Given the description of an element on the screen output the (x, y) to click on. 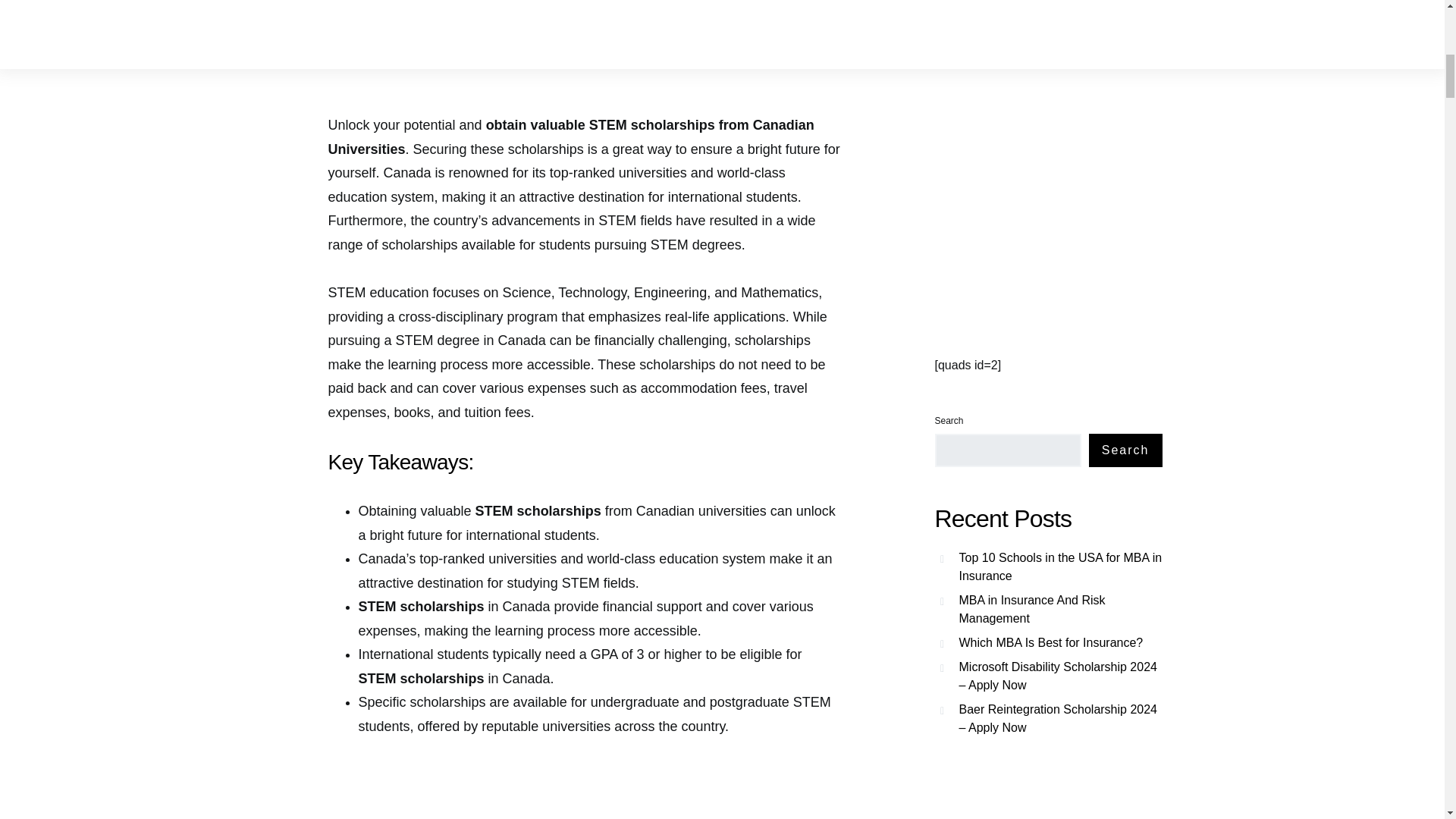
ADMIN5 (376, 61)
View all posts by Admin5 (376, 61)
